Given the description of an element on the screen output the (x, y) to click on. 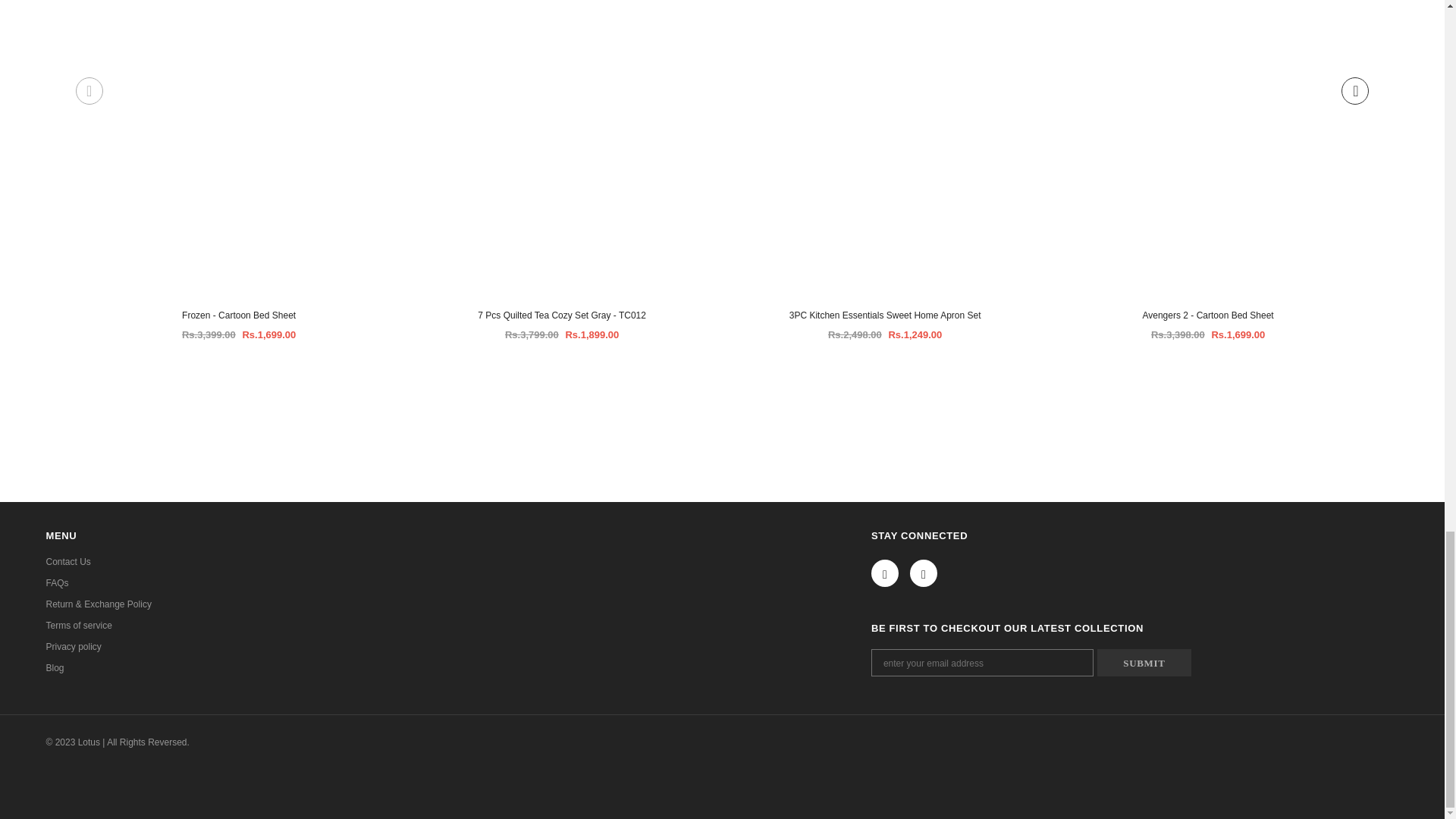
Contact Us (67, 561)
Submit (1144, 662)
